Given the description of an element on the screen output the (x, y) to click on. 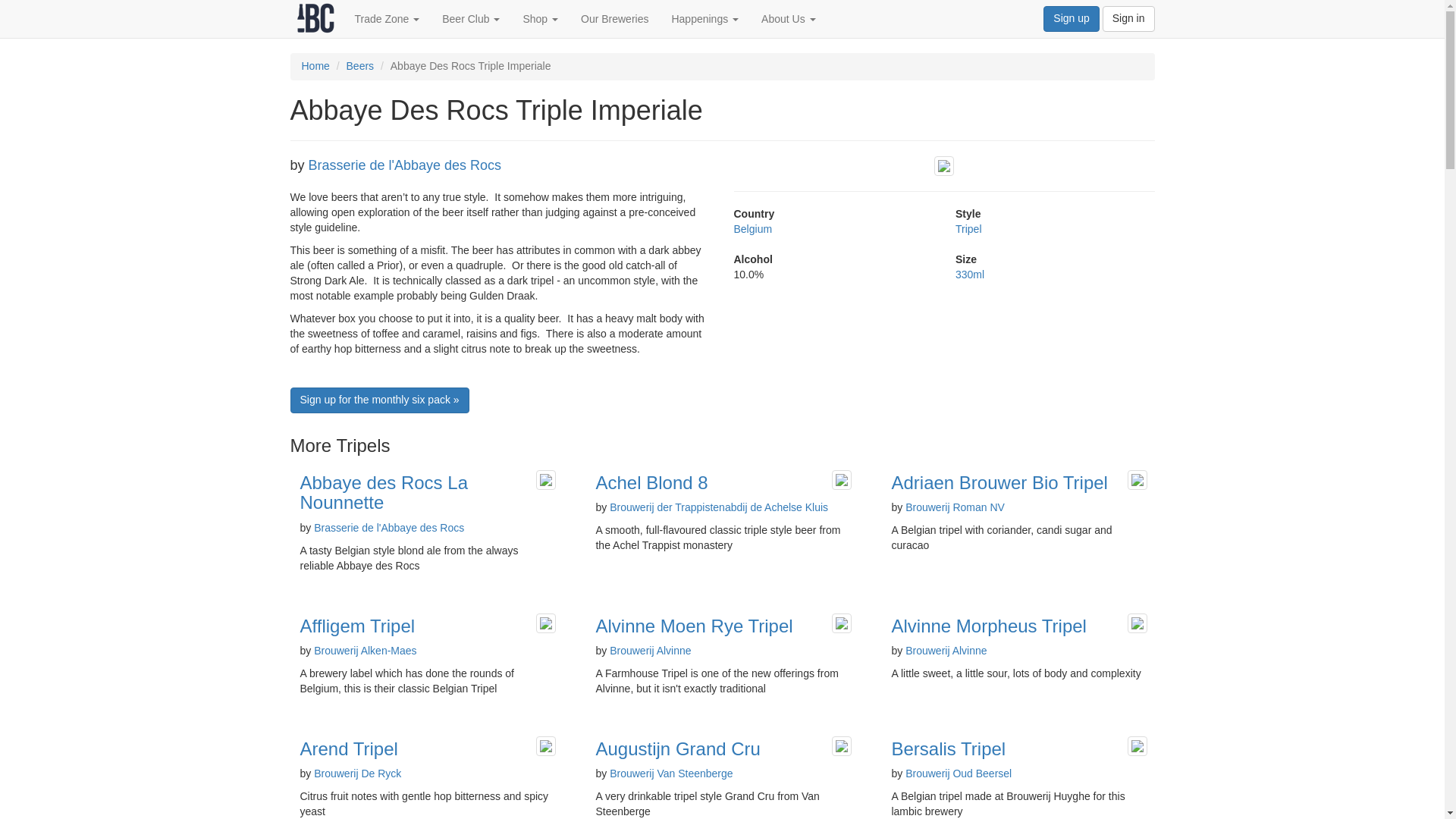
Happenings (704, 18)
Brasserie de l'Abbaye des Rocs (389, 527)
Brouwerij der Trappistenabdij de Achelse Kluis (719, 507)
About Us (788, 18)
Beer Club (470, 18)
Our Breweries (614, 18)
Shop (540, 18)
Beers (360, 65)
Brasserie de l'Abbaye des Rocs (405, 165)
330ml (969, 274)
